Given the description of an element on the screen output the (x, y) to click on. 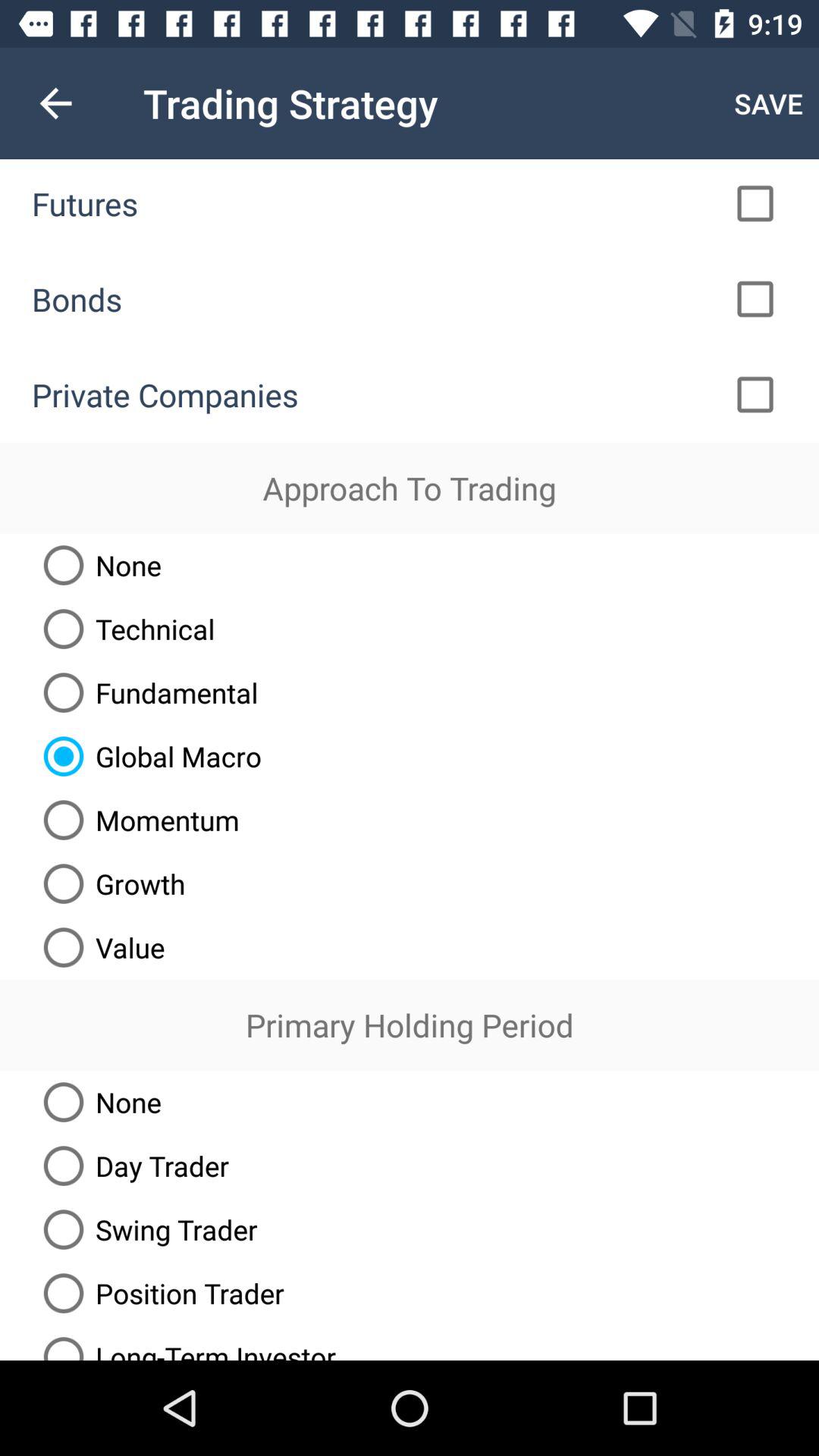
press technical (122, 628)
